Given the description of an element on the screen output the (x, y) to click on. 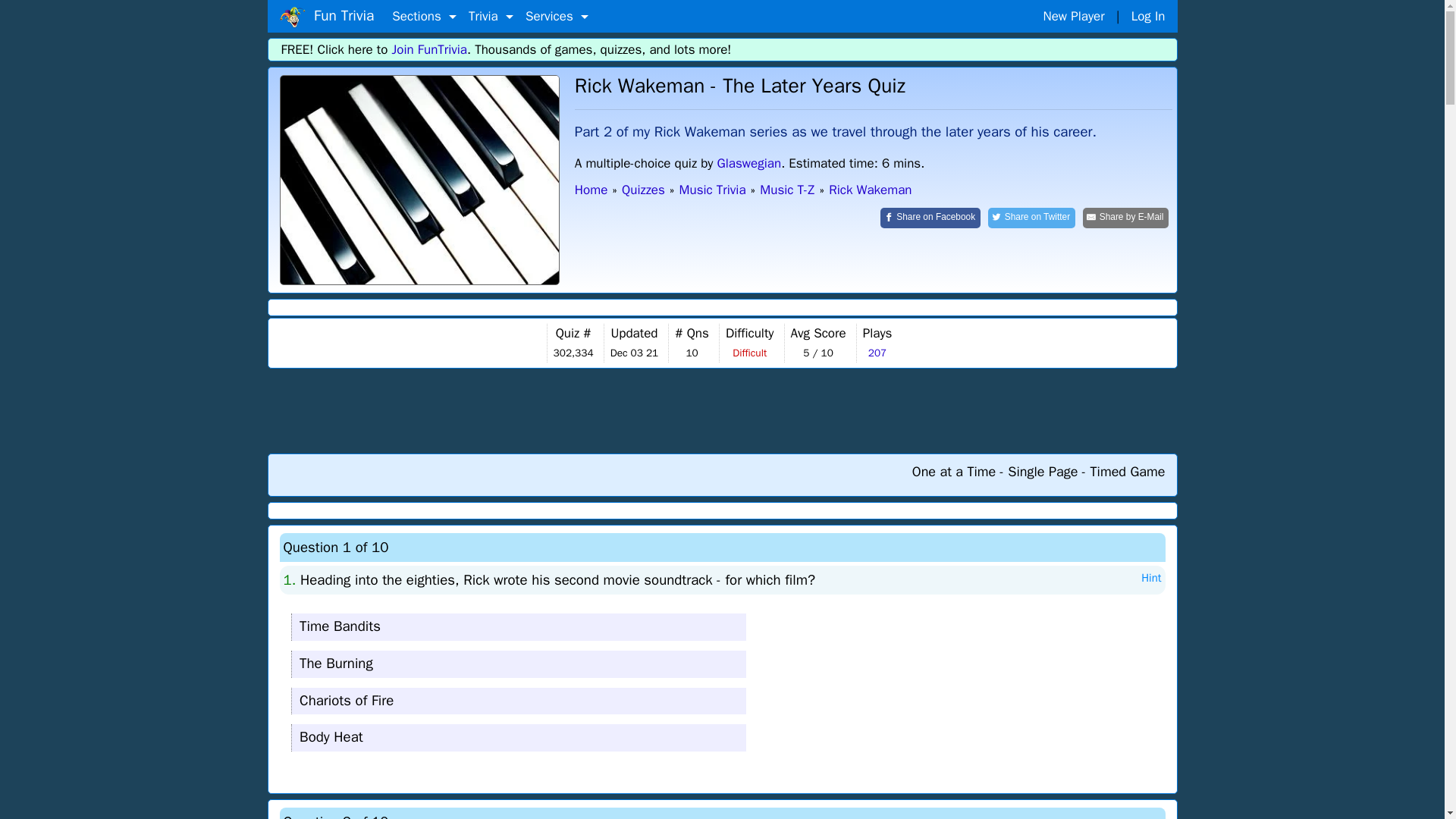
Sections (424, 16)
Services (556, 16)
Fun Trivia (419, 180)
Trivia (491, 16)
Advertisement (722, 409)
  Fun Trivia (326, 15)
Home (291, 16)
